Given the description of an element on the screen output the (x, y) to click on. 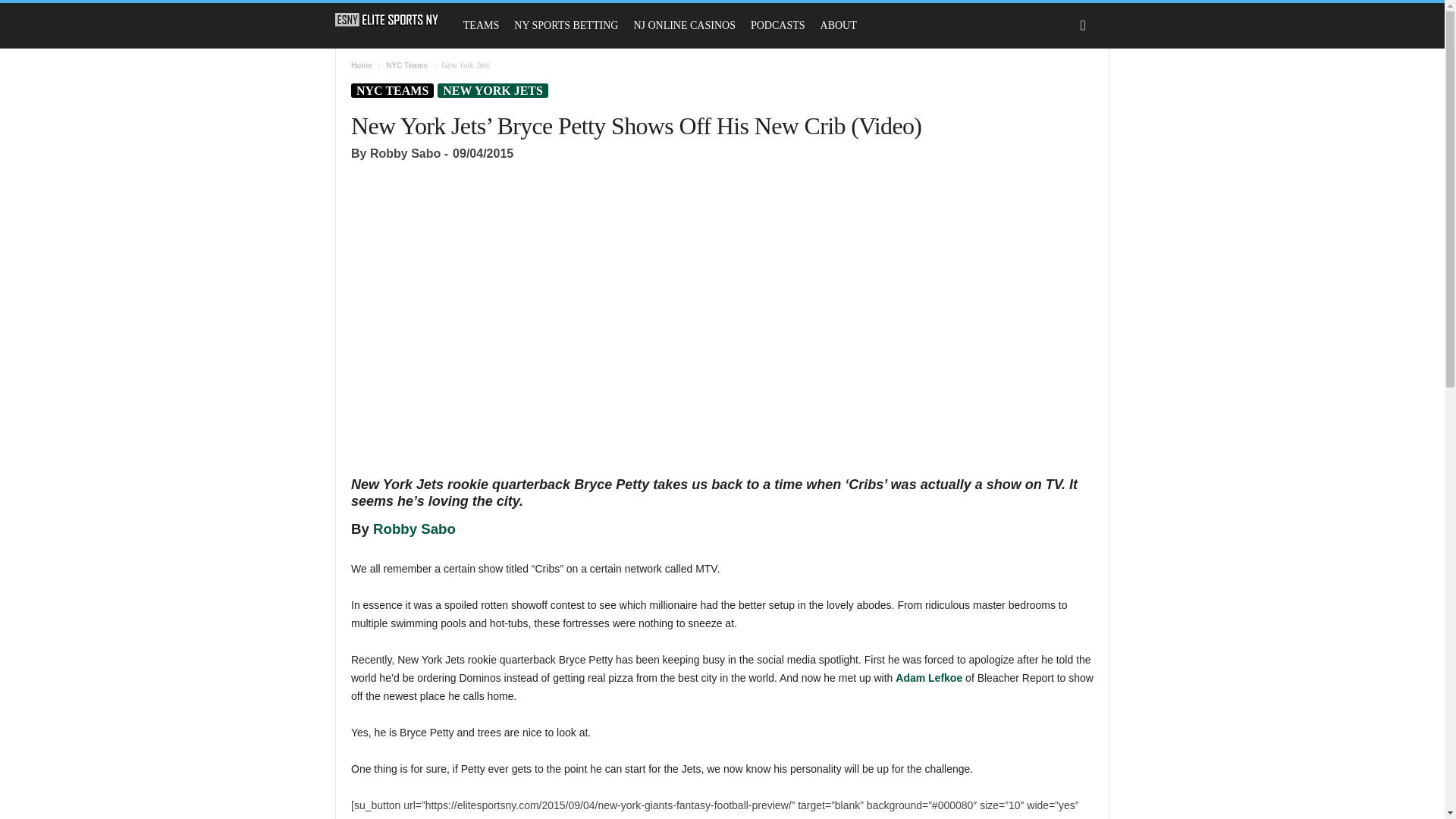
View all posts in NYC Teams (406, 65)
TEAMS (480, 25)
Elite Sports NY (386, 19)
Elite Sports NY (394, 19)
